Given the description of an element on the screen output the (x, y) to click on. 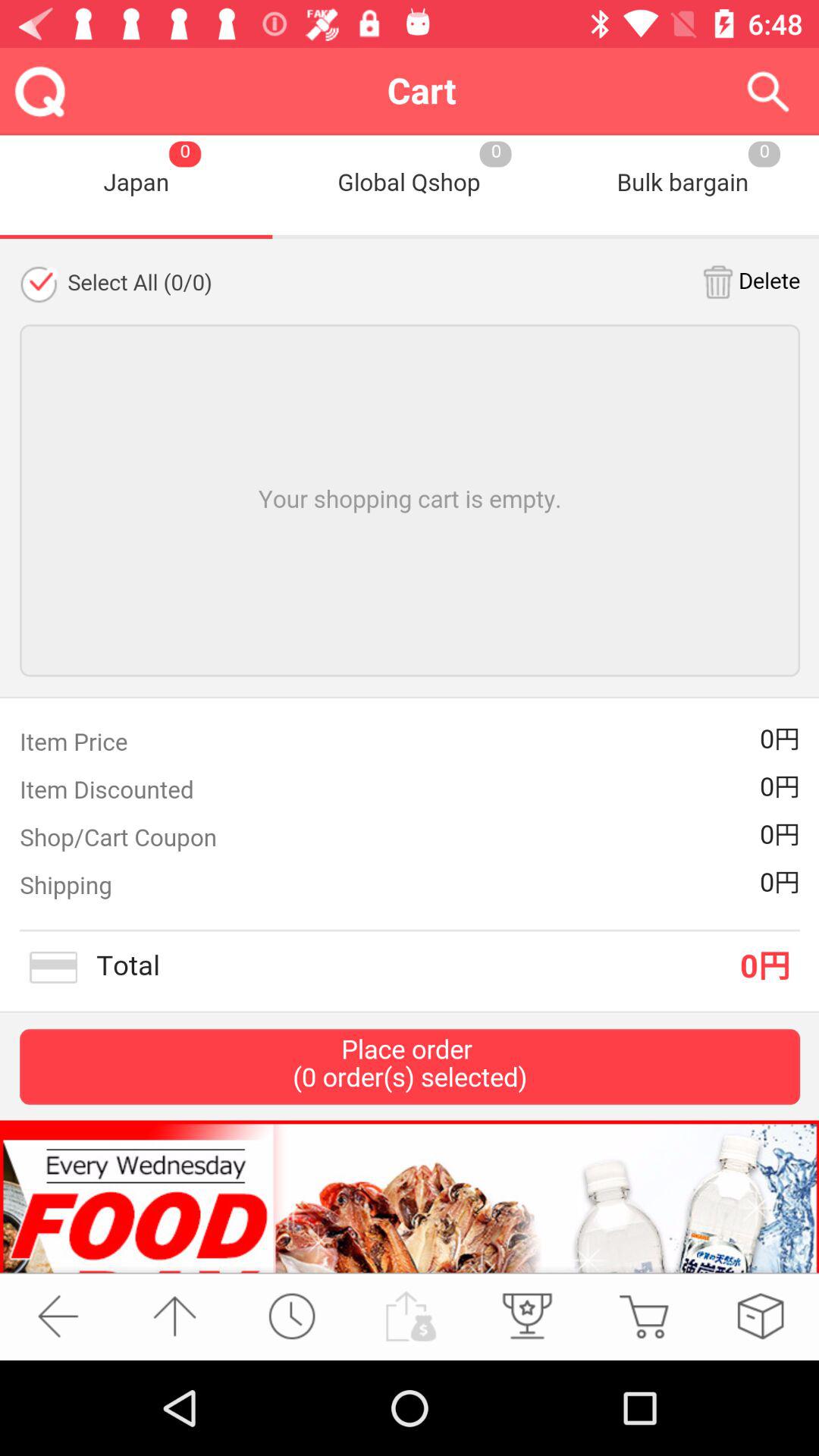
shop now option (642, 1316)
